Given the description of an element on the screen output the (x, y) to click on. 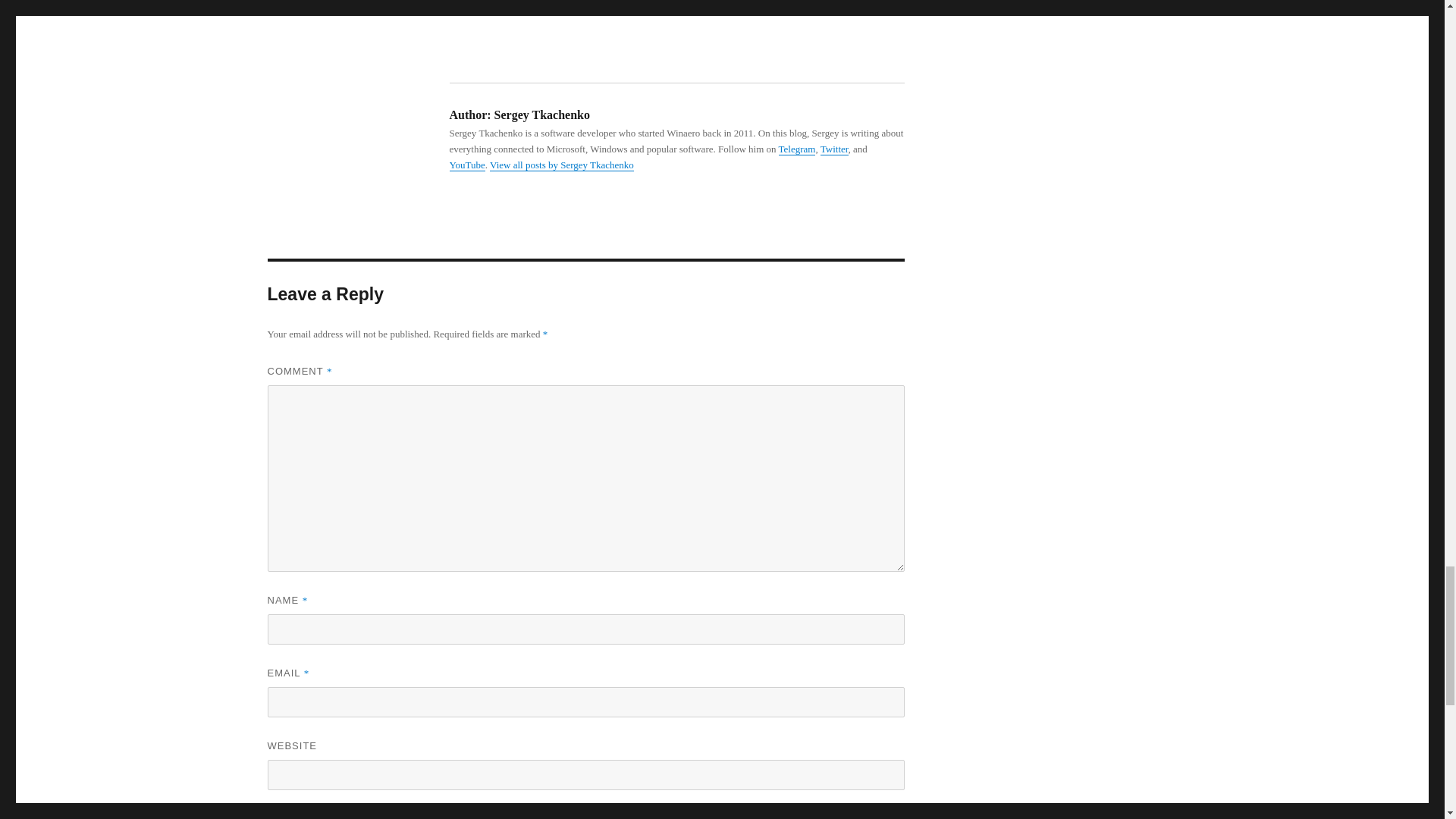
Post Comment (330, 815)
YouTube (466, 164)
View all posts by Sergey Tkachenko (561, 164)
Twitter (834, 148)
Post Comment (330, 815)
Telegram (796, 148)
